Given the description of an element on the screen output the (x, y) to click on. 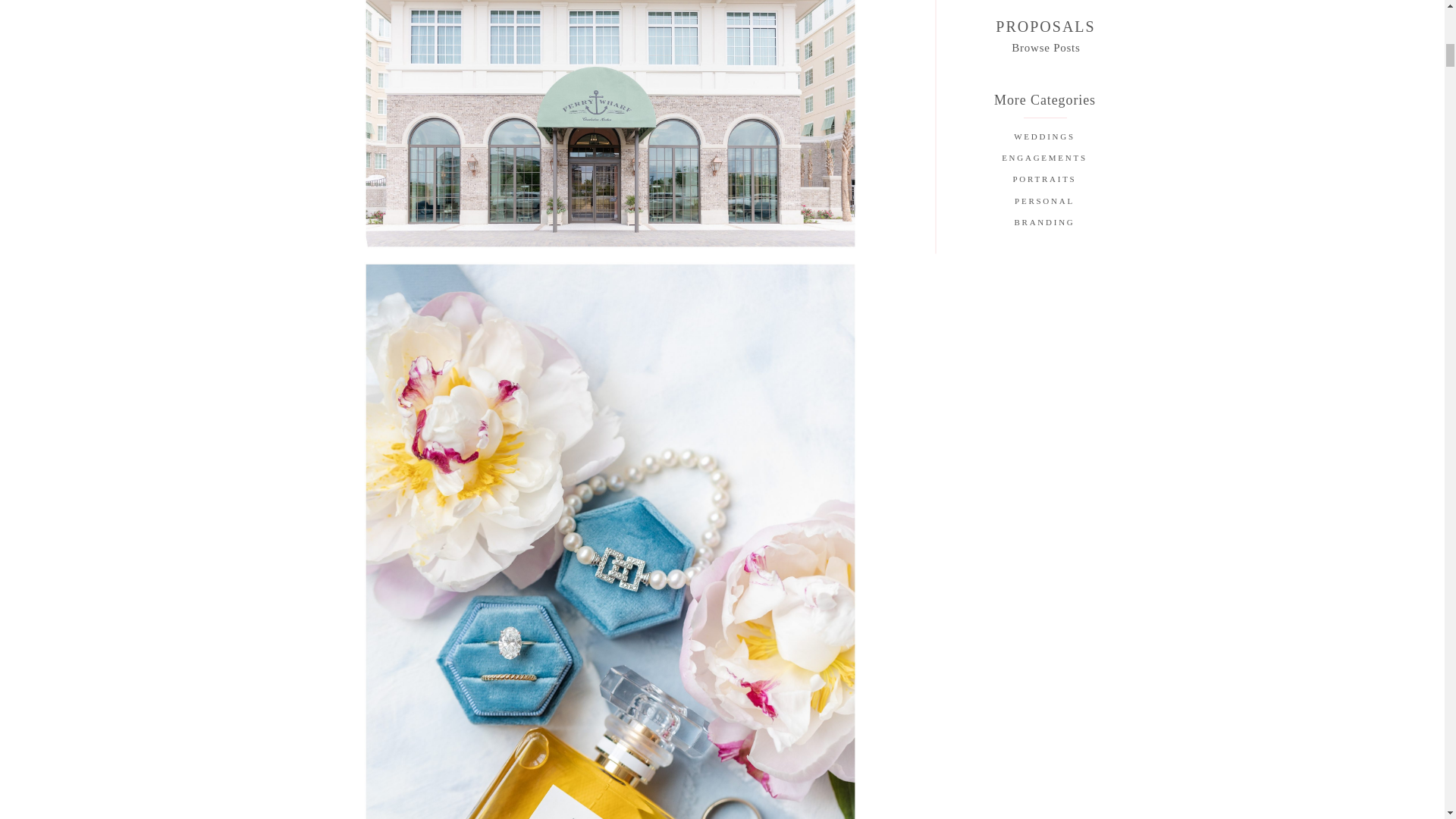
BRANDING (1043, 224)
PORTRAITS (1043, 180)
WEDDINGS (1043, 138)
PERSONAL (1043, 203)
ENGAGEMENTS (1043, 159)
PROPOSALS (1044, 25)
Browse Posts (1046, 46)
